Given the description of an element on the screen output the (x, y) to click on. 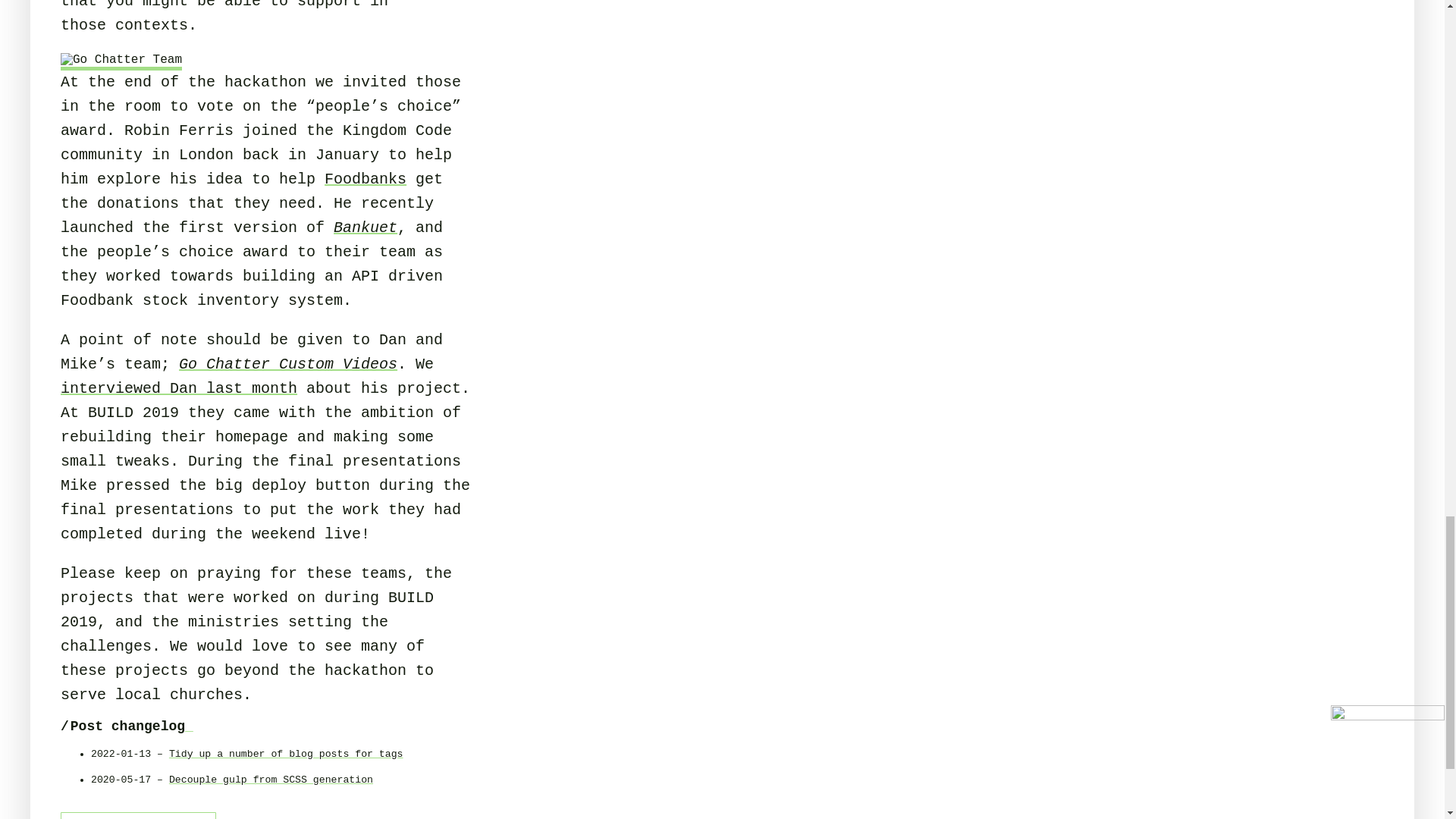
interviewed Dan last month (179, 388)
Foodbanks (365, 179)
Decouple gulp from SCSS generation (270, 779)
Tidy up a number of blog posts for tags (285, 754)
Bankuet (365, 227)
Back to all posts (138, 815)
Go Chatter Custom Videos (288, 364)
